Given the description of an element on the screen output the (x, y) to click on. 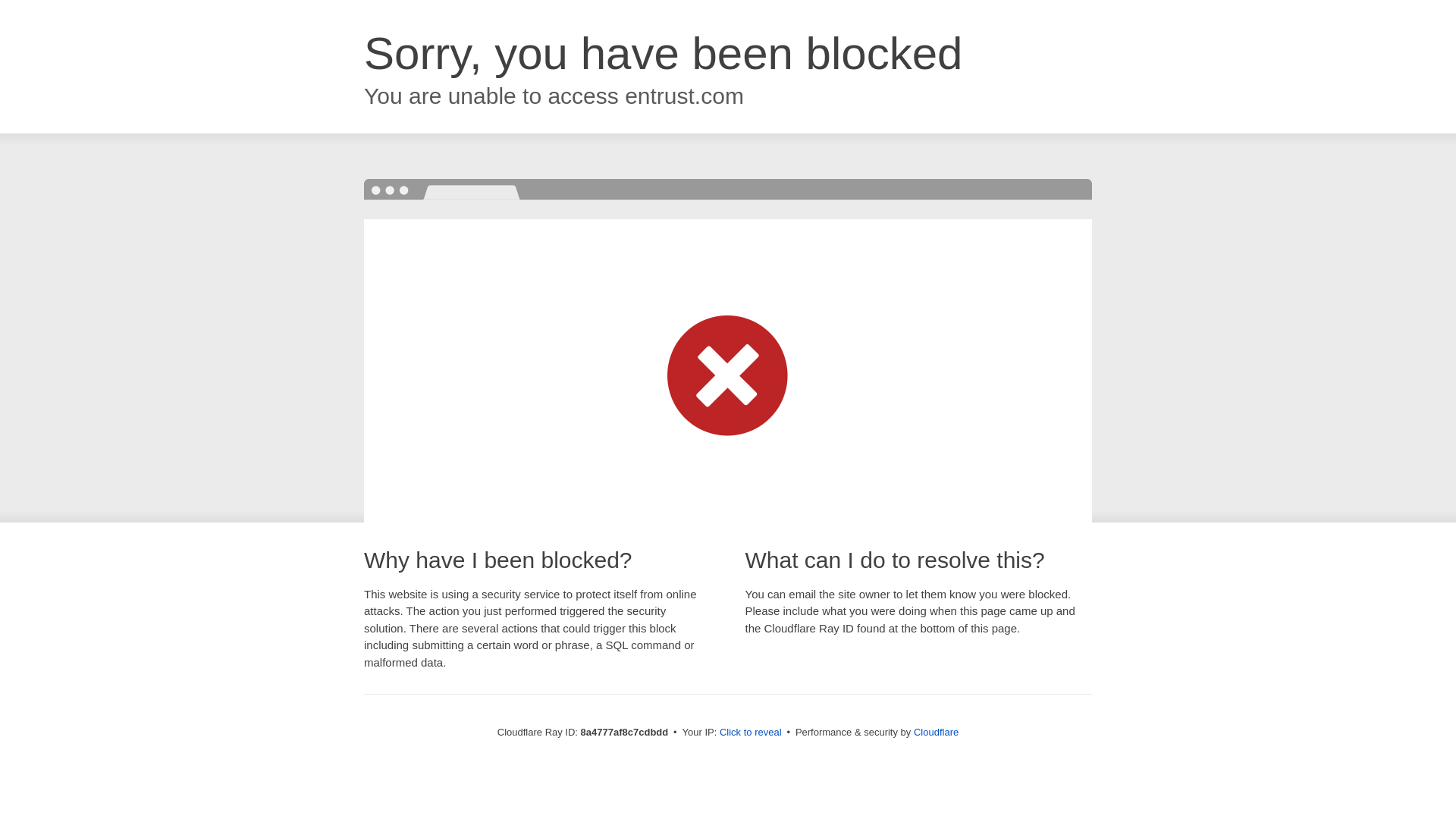
Cloudflare (936, 731)
Click to reveal (750, 732)
